Given the description of an element on the screen output the (x, y) to click on. 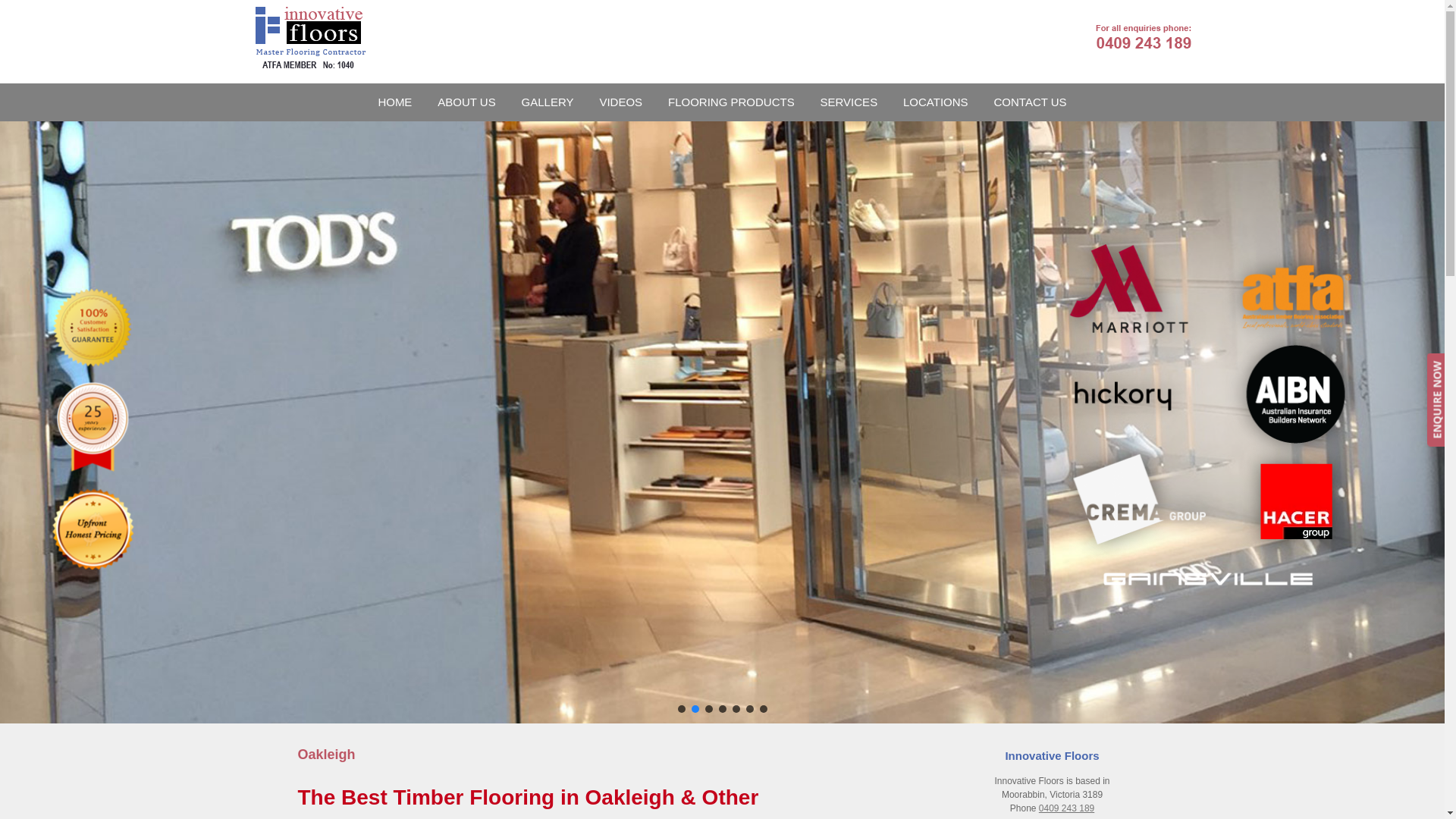
TIMBER STAIRS MELBOURNE Element type: text (896, 132)
FLOORING PRODUCTS Element type: text (731, 101)
SKIP TO CONTENT Element type: text (721, 83)
BLACKBUTT SOLID TIMBER Element type: text (768, 132)
VIDEOS Element type: text (620, 101)
LOCATIONS Element type: text (935, 101)
BLACKBUTTG5 SOLID TIMBER Element type: text (976, 132)
GALLERY Element type: text (547, 101)
CONTACT US Element type: text (1030, 101)
ABOUT US Element type: text (466, 101)
0409 243 189 Element type: text (1066, 808)
Timber Floor Installation Melbourne Element type: hover (303, 37)
BLACKBUTT Element type: text (559, 132)
HOME Element type: text (394, 101)
AMERICAN WHITE OAK Element type: text (351, 132)
SERVICES Element type: text (849, 101)
